Given the description of an element on the screen output the (x, y) to click on. 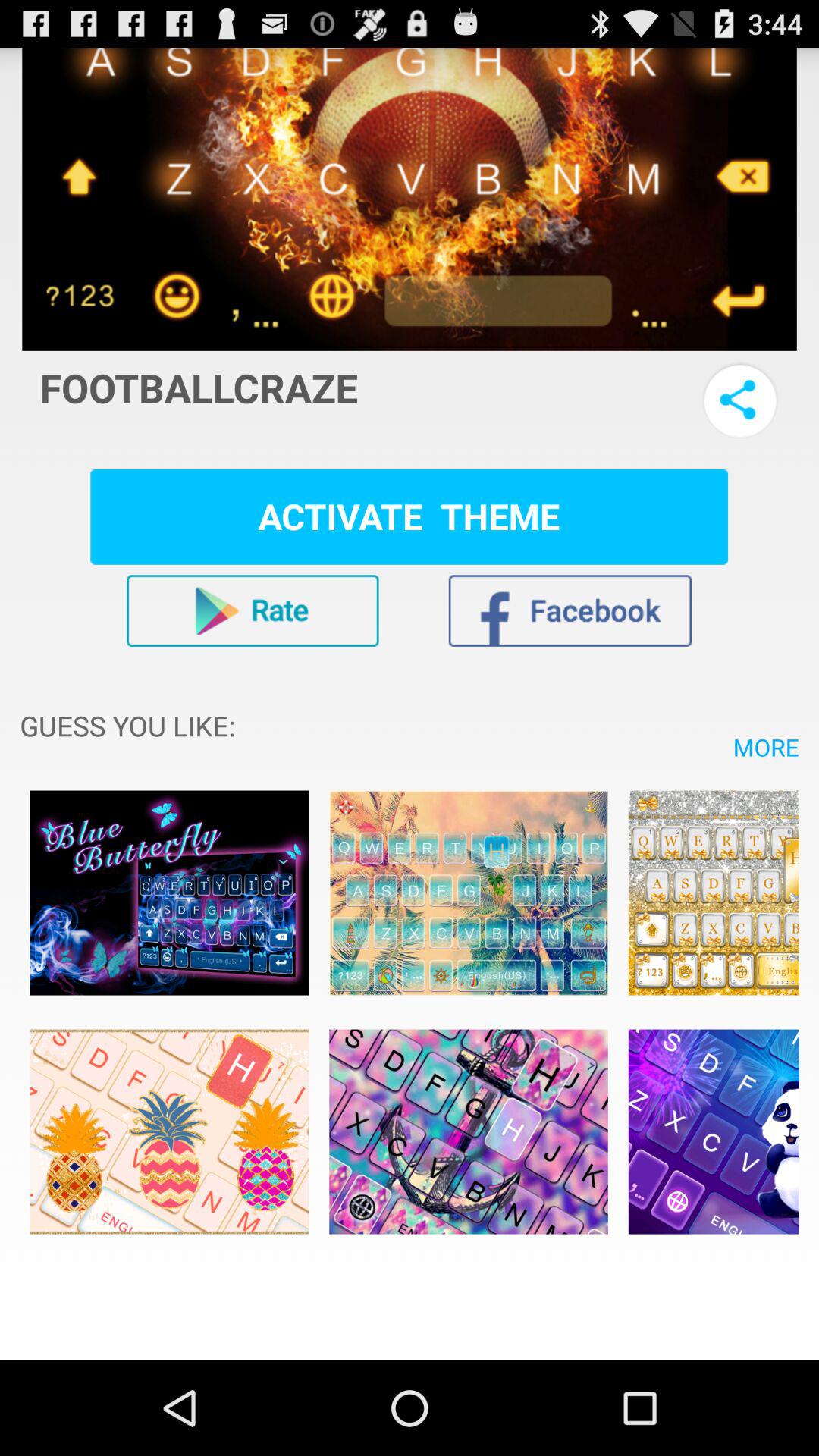
open app advertisement (169, 1131)
